Given the description of an element on the screen output the (x, y) to click on. 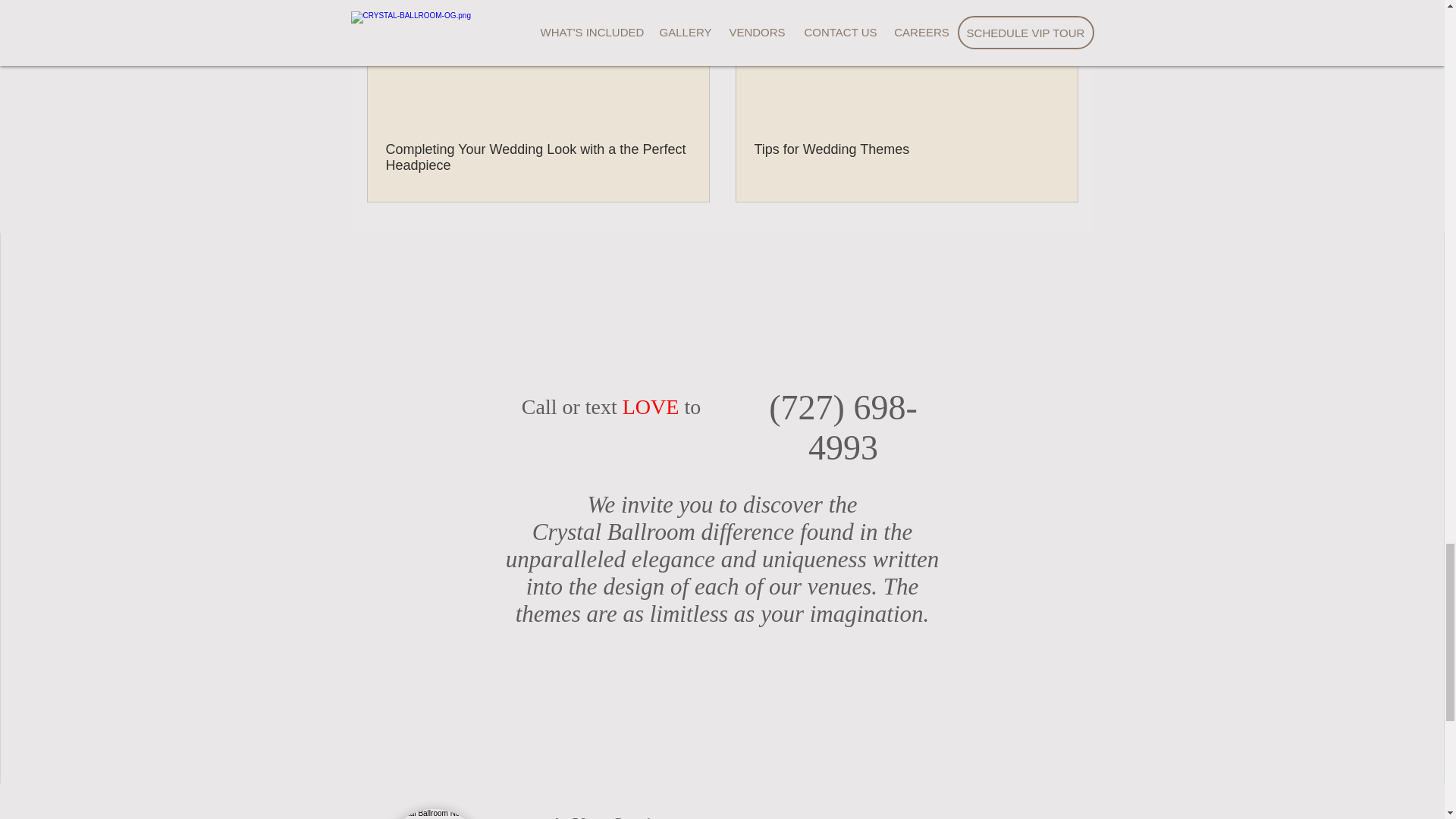
At Your Service (608, 816)
Tips for Wedding Themes (906, 149)
Completing Your Wedding Look with a the Perfect Headpiece (537, 157)
